Given the description of an element on the screen output the (x, y) to click on. 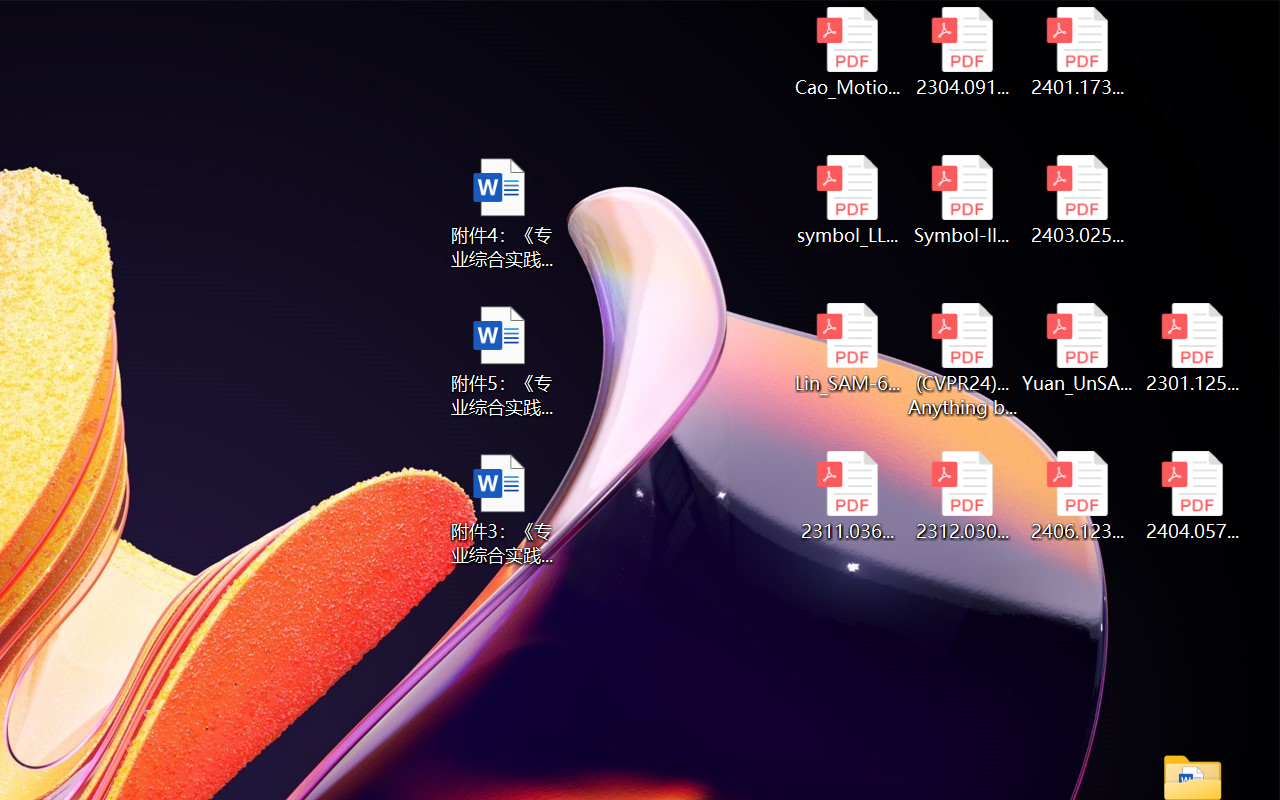
Symbol-llm-v2.pdf (962, 200)
2312.03032v2.pdf (962, 496)
